Given the description of an element on the screen output the (x, y) to click on. 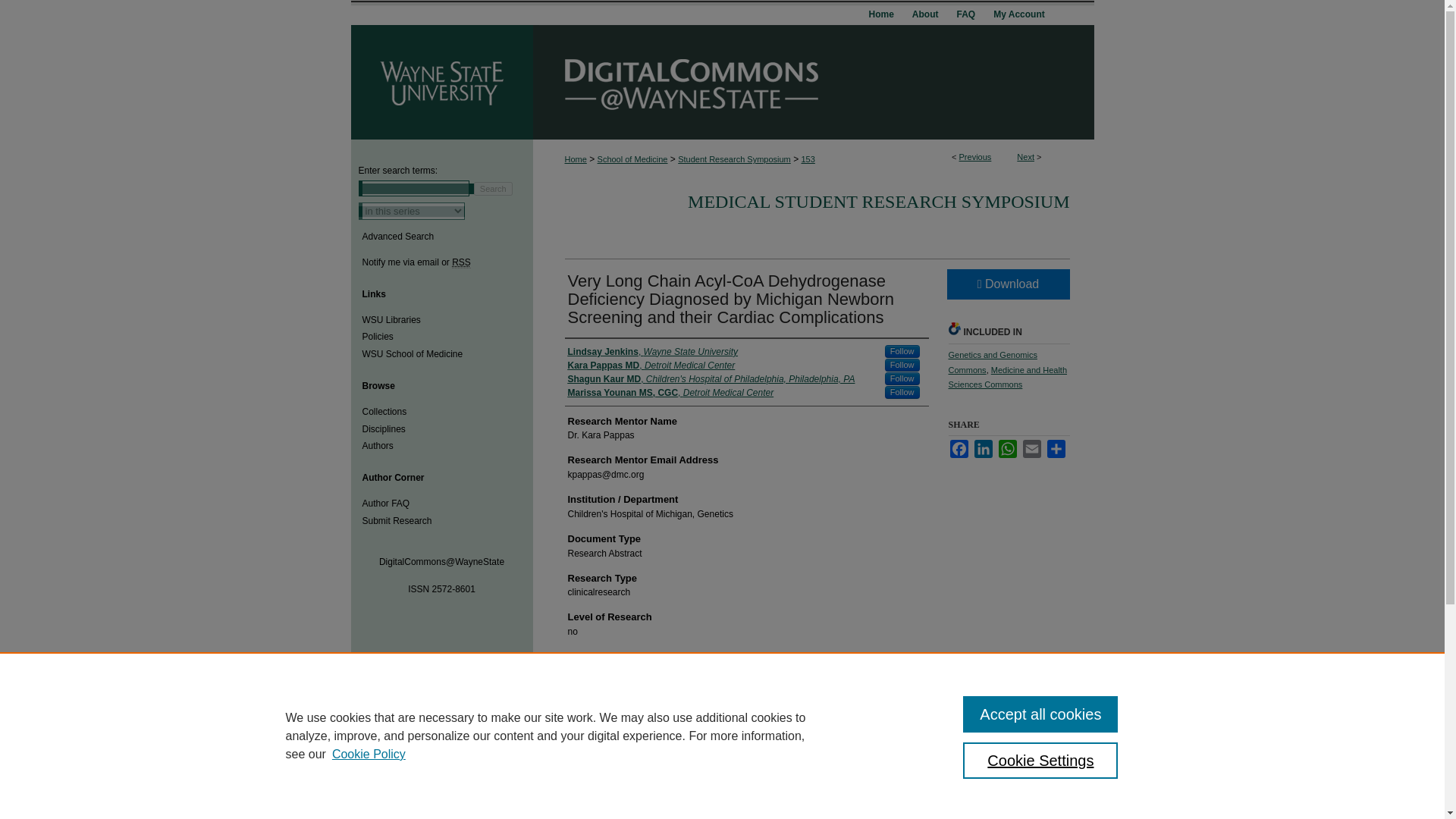
Follow (902, 378)
School of Medicine (632, 158)
Follow Marissa Younan MS, CGC (902, 391)
Genetics and Genomics Commons (991, 362)
About (925, 20)
Lindsay Jenkins, Wayne State University (652, 351)
Follow (902, 391)
Medicine and Health Sciences Commons (1007, 377)
Home (880, 20)
Home (575, 158)
Share (1055, 448)
Medicine and Health Sciences Commons (1007, 377)
Student Research Symposium (734, 158)
Follow (902, 350)
Follow Shagun Kaur MD (902, 378)
